Given the description of an element on the screen output the (x, y) to click on. 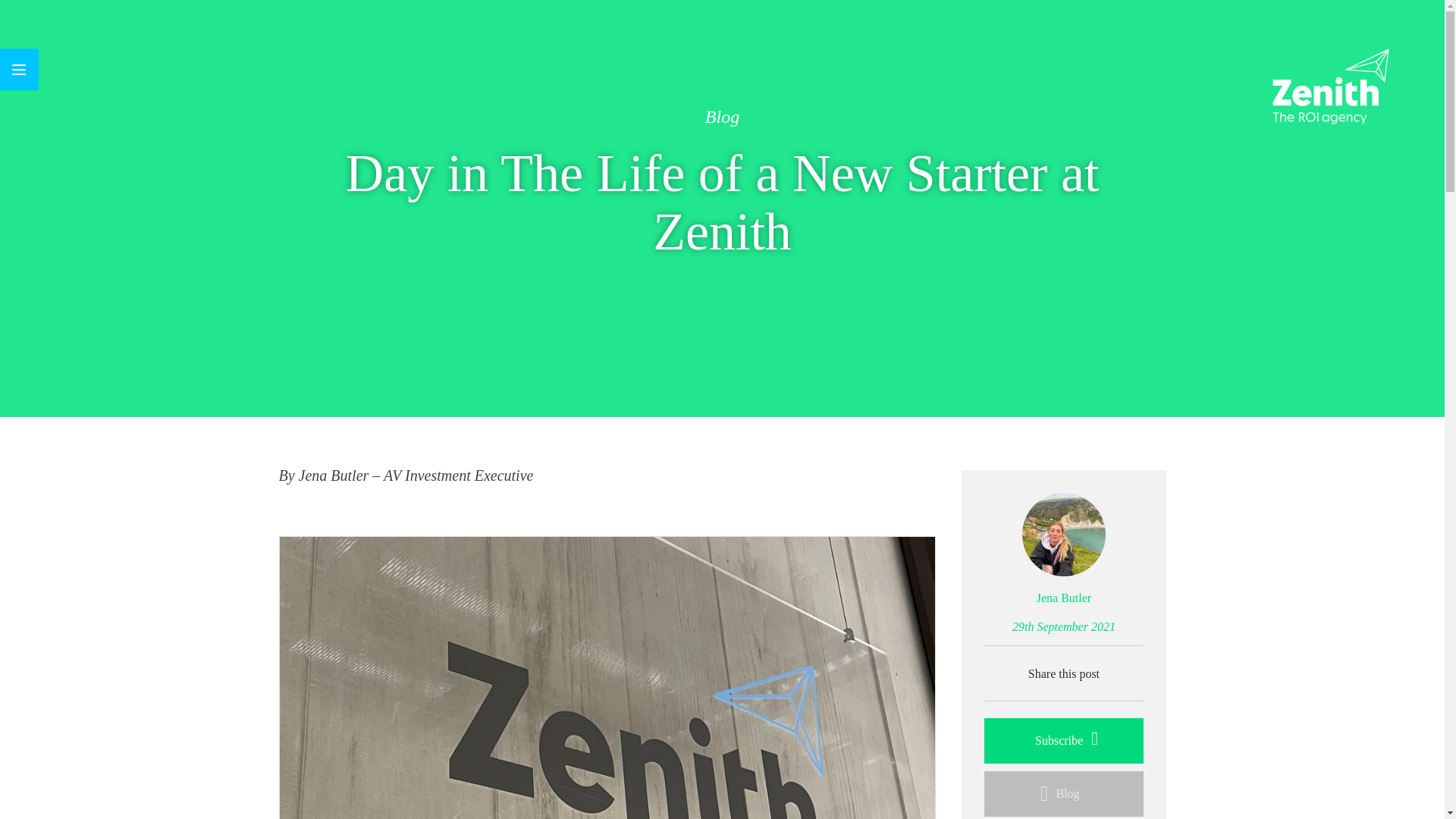
Blog (1063, 793)
Subscribe (1063, 740)
Posts by Jena Butler (1063, 597)
Subscribe (1063, 740)
Jena Butler (1063, 597)
